Given the description of an element on the screen output the (x, y) to click on. 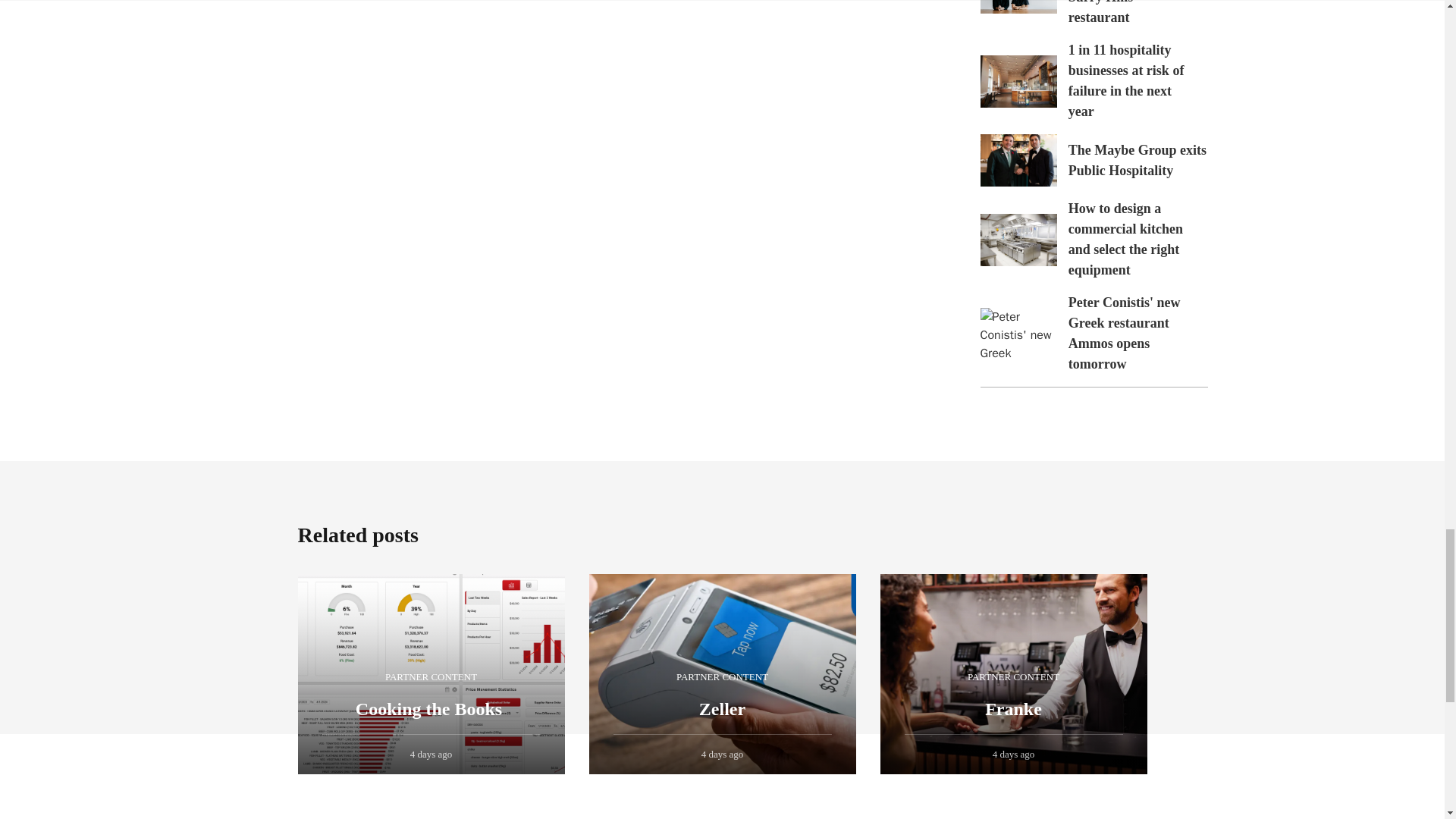
The Maybe Group exits Public Hospitality (1137, 160)
The Apollo Group announces 200-seater Surry Hills restaurant (1018, 6)
The Maybe Group exits Public Hospitality (1018, 160)
Peter Conistis' new Greek restaurant Ammos opens tomorrow (1124, 332)
Peter Conistis' new Greek restaurant Ammos opens tomorrow (1018, 333)
The Apollo Group announces 200-seater Surry Hills restaurant (1130, 12)
